Given the description of an element on the screen output the (x, y) to click on. 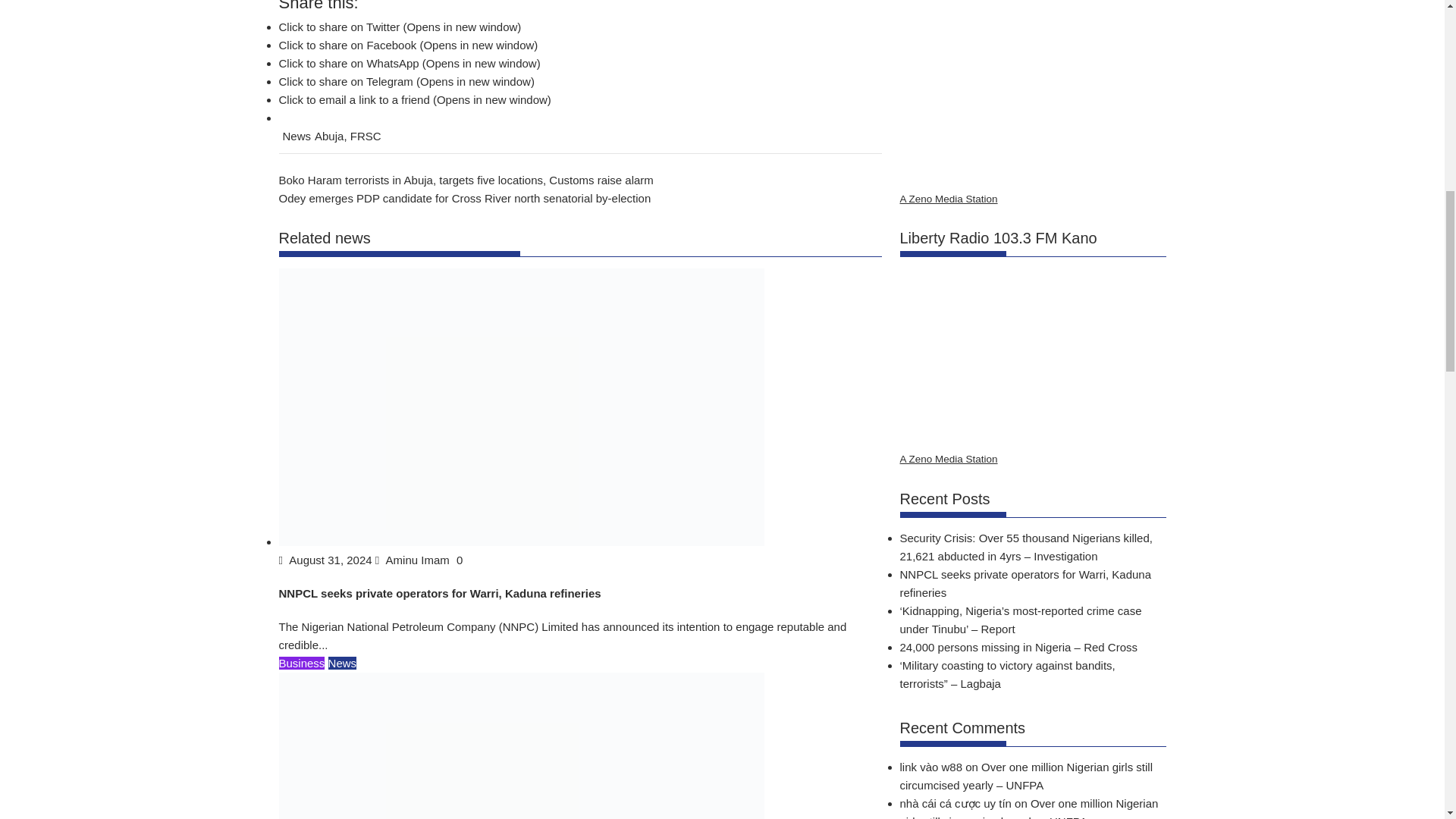
News (296, 135)
Aminu Imam (413, 559)
Click to share on WhatsApp (409, 62)
Click to share on Telegram (406, 81)
FRSC (365, 135)
Click to share on Twitter (400, 26)
Click to email a link to a friend (415, 99)
News (342, 662)
Abuja (328, 135)
Click to share on Facebook (408, 44)
